Given the description of an element on the screen output the (x, y) to click on. 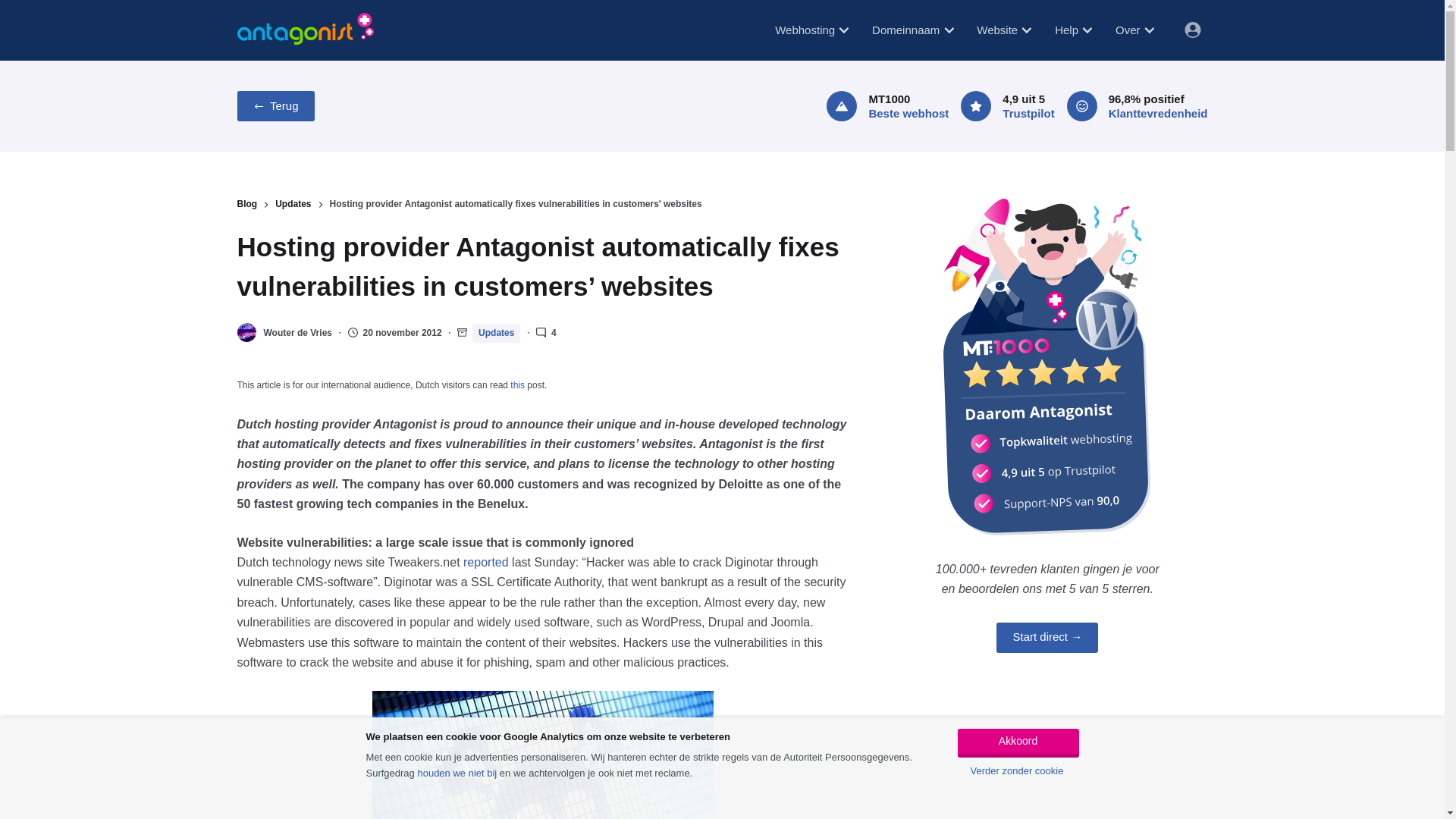
Terug (274, 105)
malware (542, 755)
houden we niet bij (456, 772)
Home (303, 29)
Webhosting (811, 30)
Berichten door Wouter de Vries (297, 332)
Akkoord (1017, 742)
Over (1133, 30)
Beste webhost (908, 113)
Help (1072, 30)
Updates (495, 333)
Domeinnaam (911, 30)
Home (303, 30)
Trustpilot (1028, 113)
Blog (246, 204)
